Given the description of an element on the screen output the (x, y) to click on. 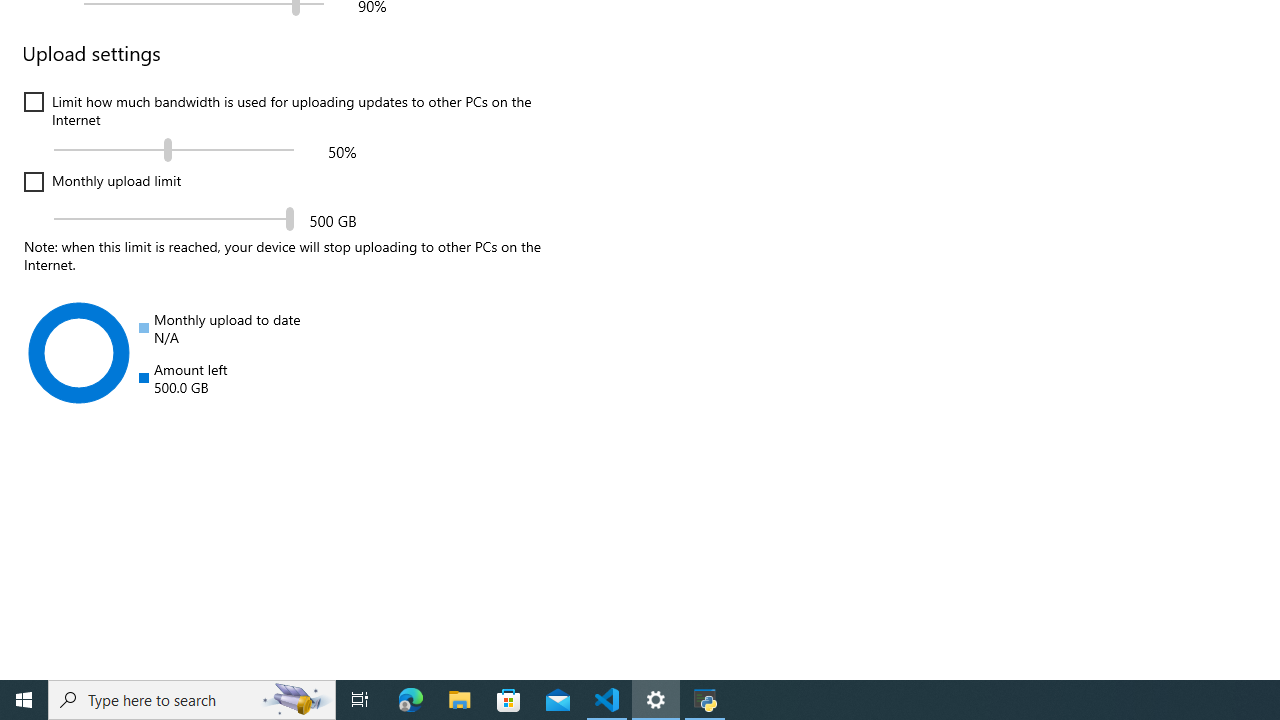
Settings - 1 running window (656, 699)
File Explorer (460, 699)
Visual Studio Code - 1 running window (607, 699)
Microsoft Store (509, 699)
Monthly upload limit (173, 218)
Task View (359, 699)
Monthly upload limit (102, 182)
Start (24, 699)
Microsoft Edge (411, 699)
Search highlights icon opens search home window (295, 699)
Type here to search (191, 699)
